Given the description of an element on the screen output the (x, y) to click on. 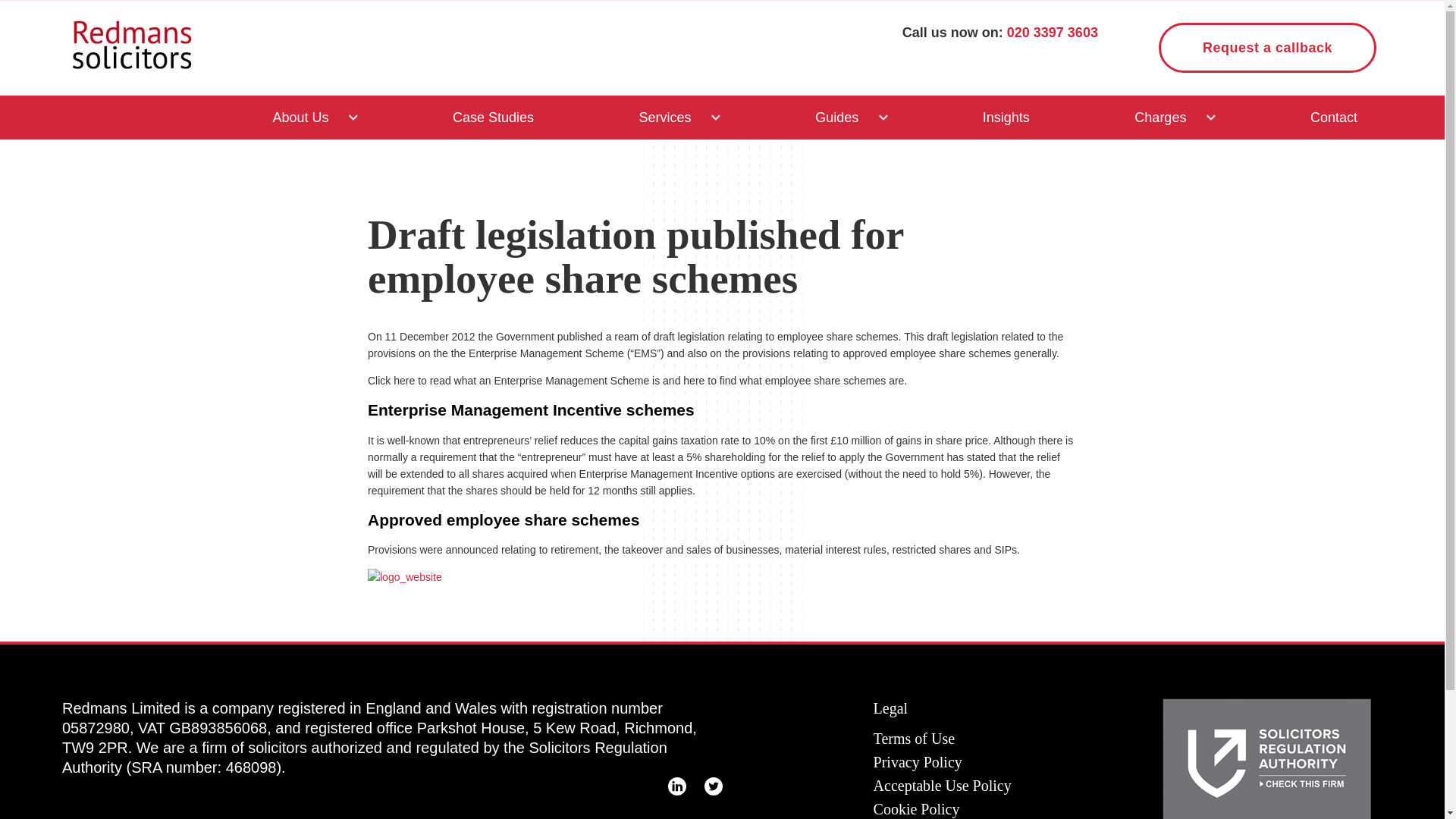
redmans-logo (132, 45)
About Us (300, 117)
Privacy Policy (917, 762)
Insights (1006, 117)
Terms of Use (914, 738)
Services (665, 117)
Charges (1160, 117)
Cookie Policy (916, 809)
Request a callback (1266, 47)
Contact (1334, 117)
Twitter (712, 786)
LinkedIn (675, 786)
Case Studies (493, 117)
Guides (836, 117)
020 3397 3603 (1052, 32)
